Given the description of an element on the screen output the (x, y) to click on. 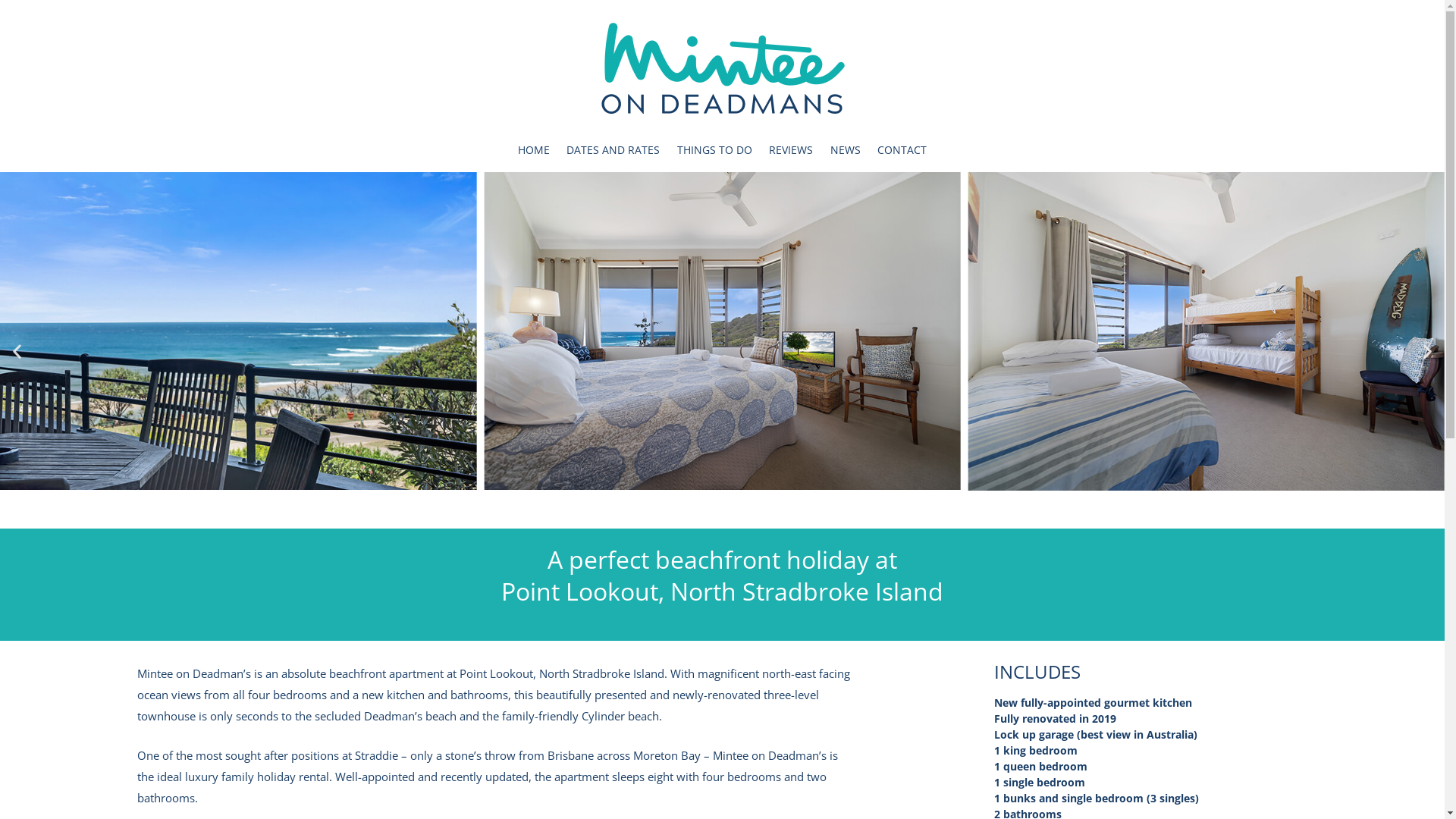
CONTACT Element type: text (902, 149)
NEWS Element type: text (844, 149)
HOME Element type: text (533, 149)
DATES AND RATES Element type: text (613, 149)
REVIEWS Element type: text (790, 149)
THINGS TO DO Element type: text (714, 149)
